Given the description of an element on the screen output the (x, y) to click on. 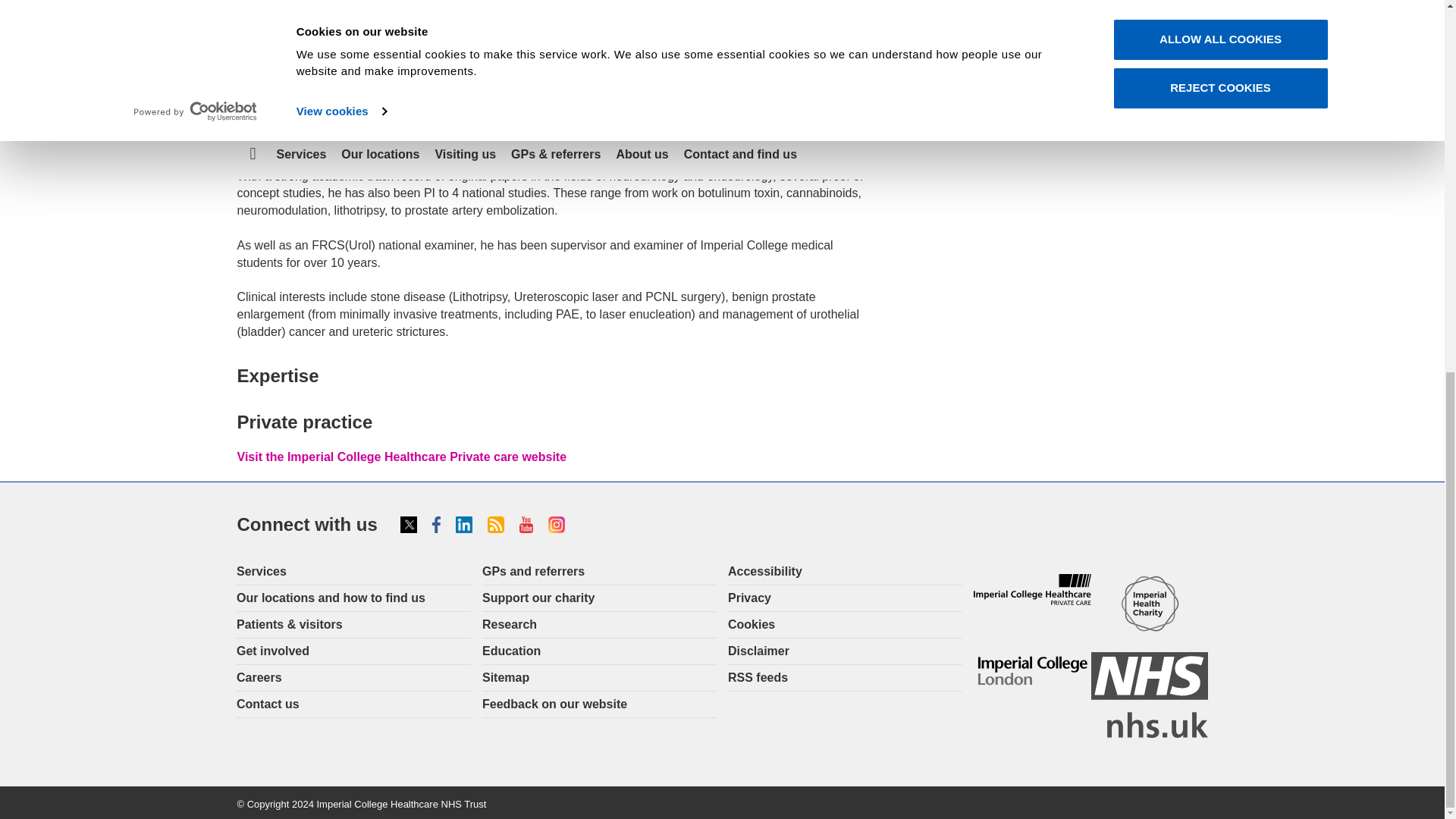
Imperial Private healthcare (1032, 589)
NHS Choices (1149, 694)
charity alternate (1149, 603)
